Given the description of an element on the screen output the (x, y) to click on. 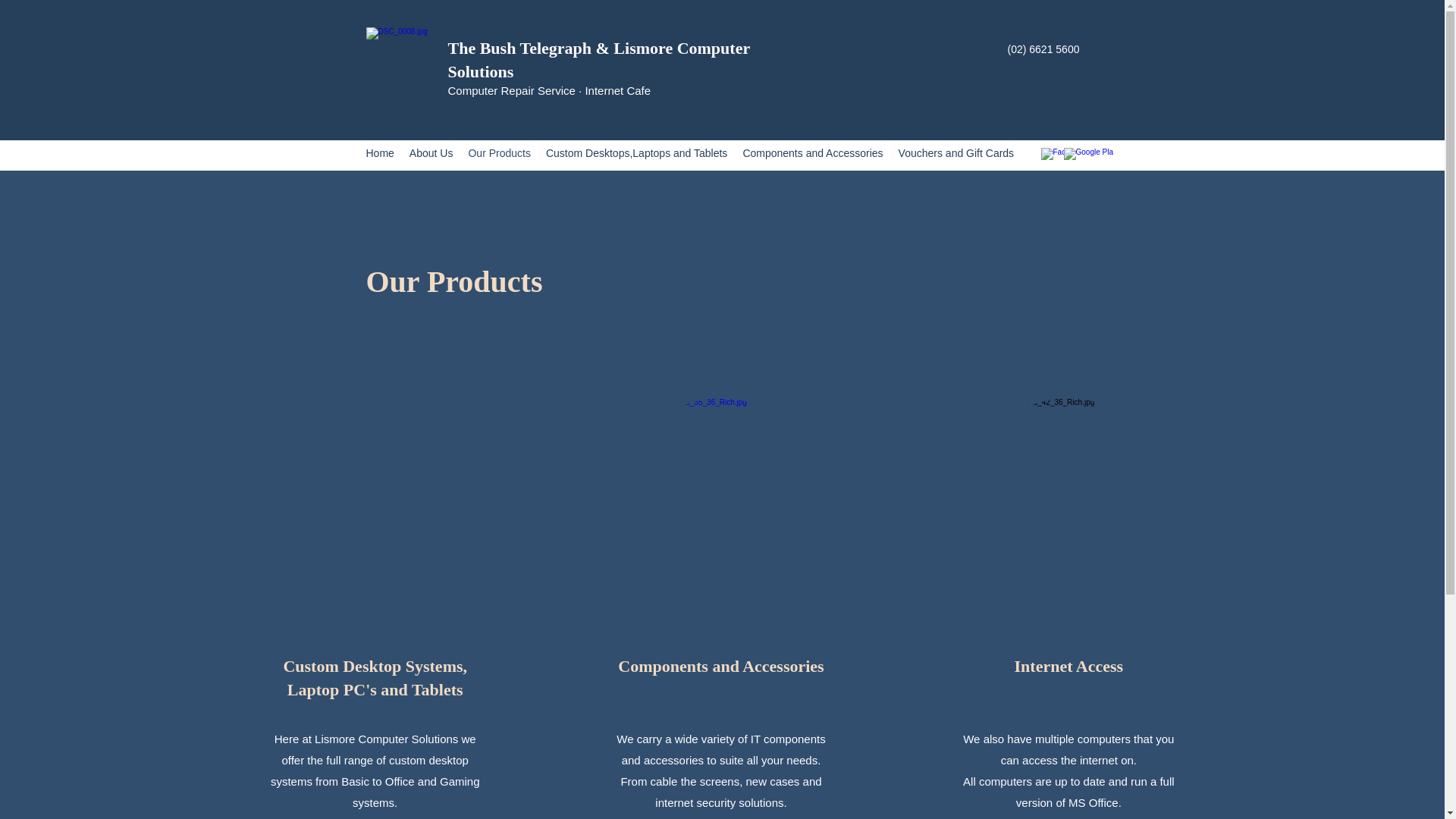
Our Products Element type: text (498, 155)
About Us Element type: text (431, 155)
Custom Desktops,Laptops and Tablets Element type: text (636, 155)
3D Printing Element type: text (1054, 155)
Vouchers and Gift Cards Element type: text (956, 155)
Home Element type: text (379, 155)
Components and Accessories Element type: text (812, 155)
